Given the description of an element on the screen output the (x, y) to click on. 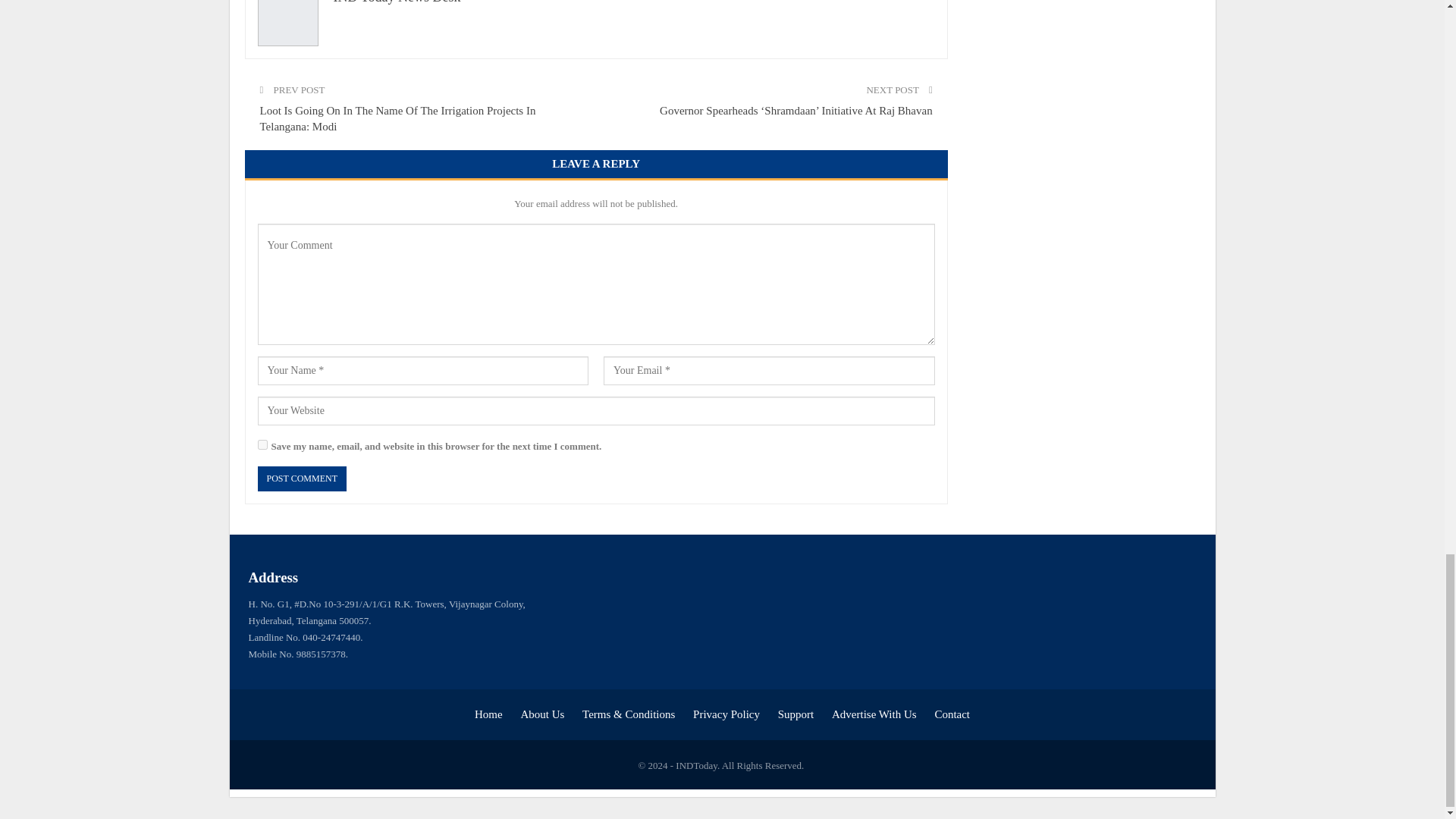
Post Comment (301, 478)
yes (262, 444)
